Given the description of an element on the screen output the (x, y) to click on. 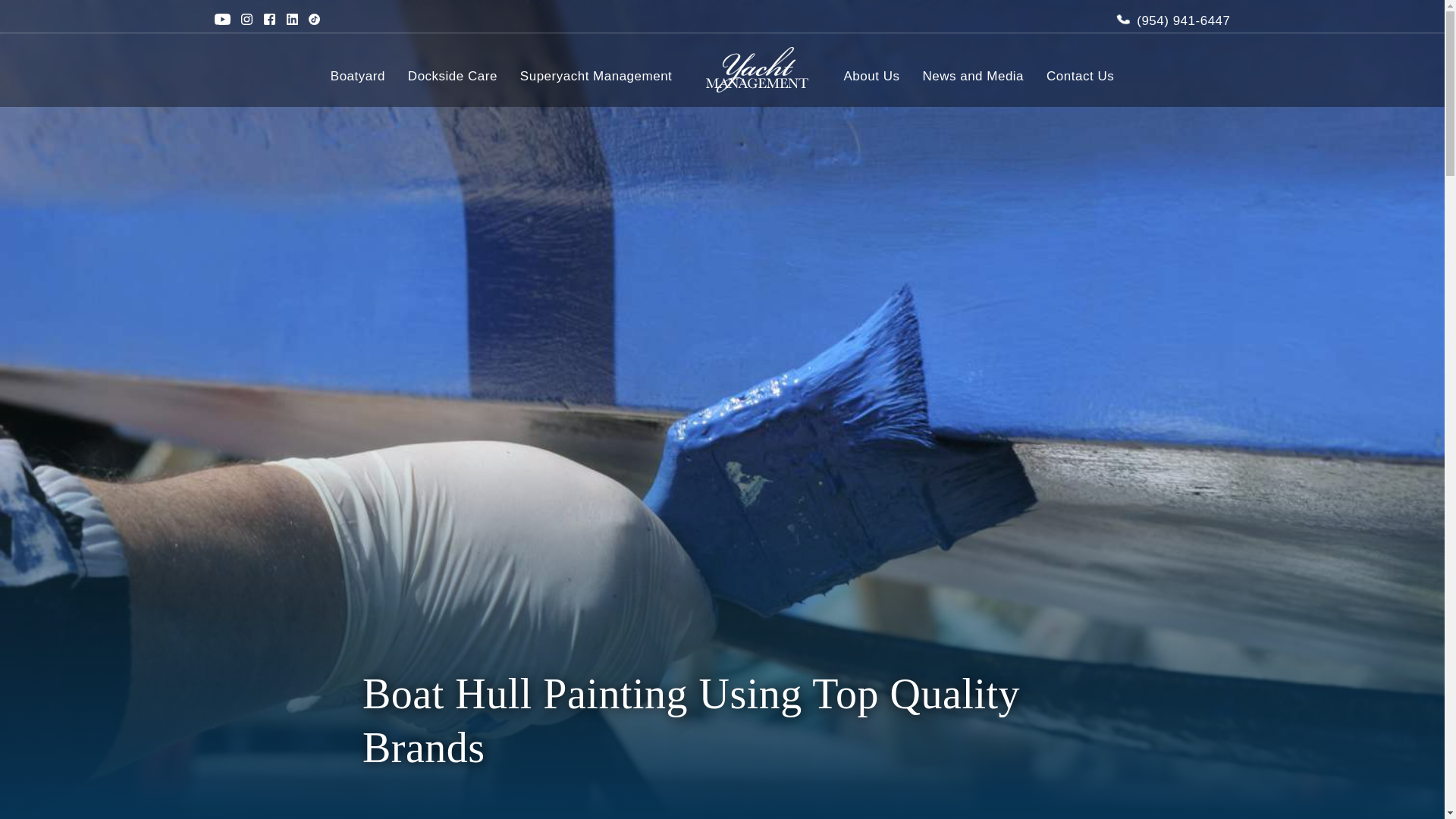
News and Media (972, 76)
About Us (871, 76)
Boatyard (357, 76)
Superyacht Management (595, 76)
Dockside Care (452, 76)
Contact Us (1079, 76)
